Given the description of an element on the screen output the (x, y) to click on. 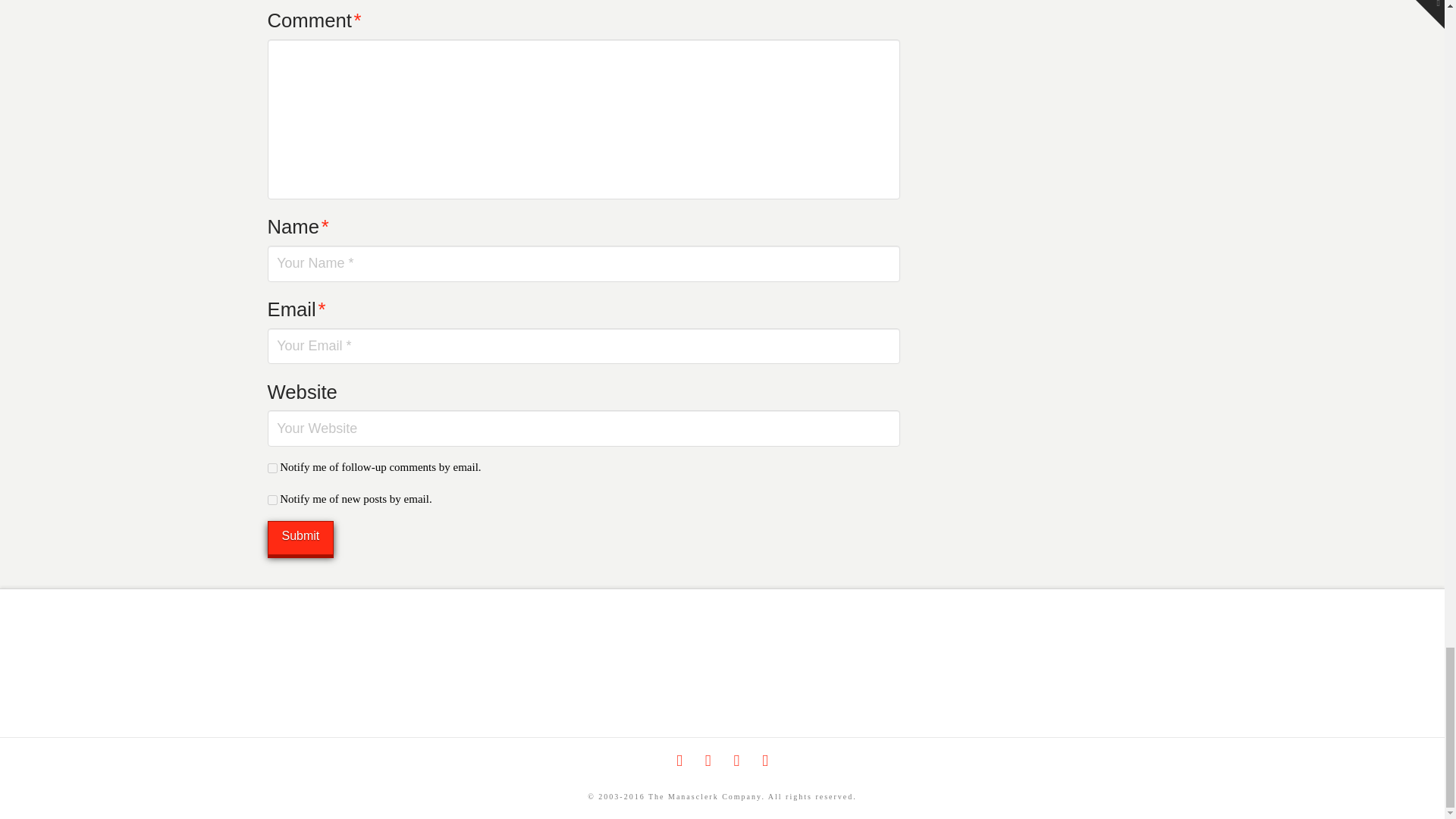
subscribe (271, 468)
subscribe (271, 500)
Submit (299, 537)
Submit (299, 537)
